Given the description of an element on the screen output the (x, y) to click on. 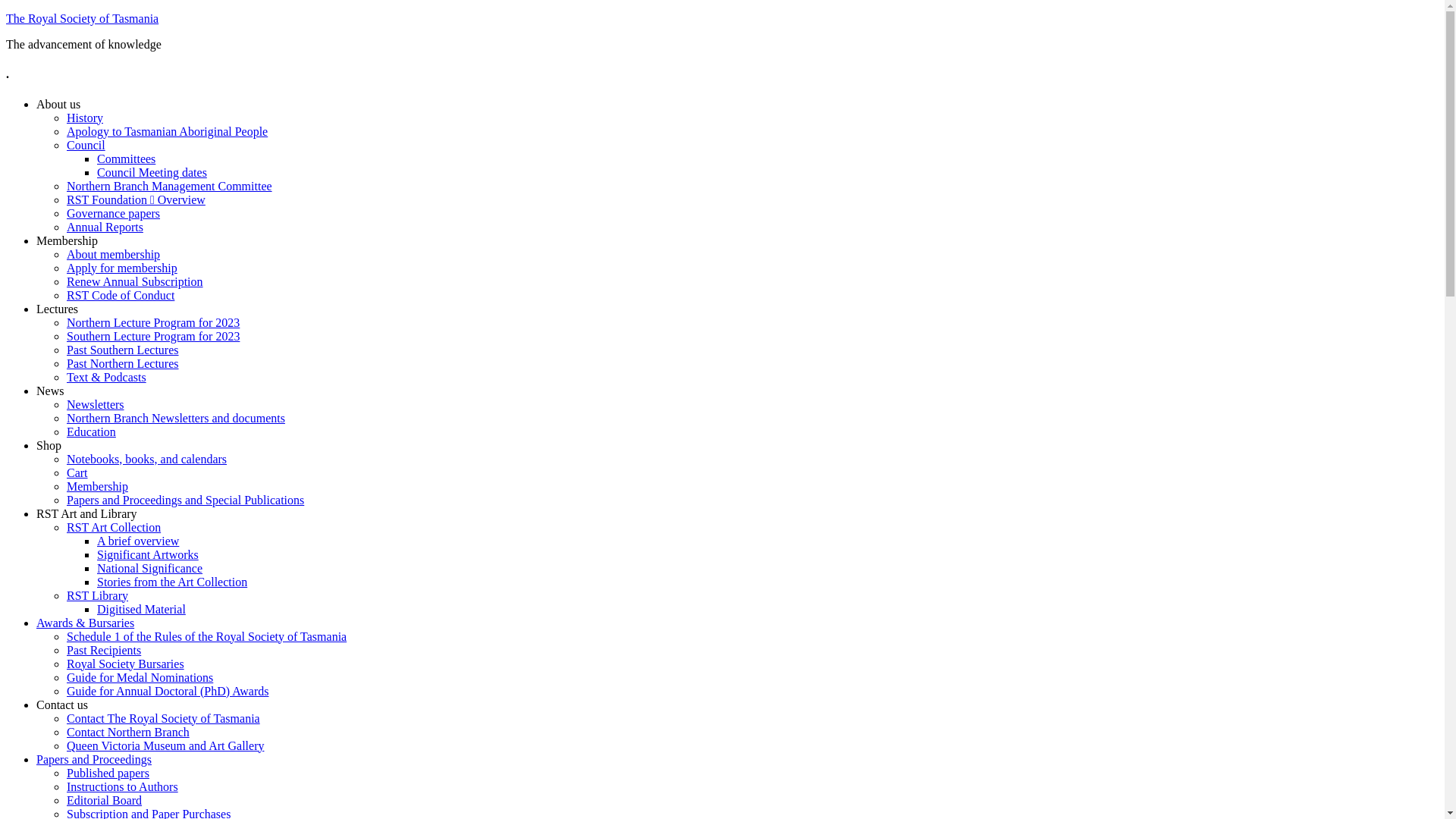
RST Library Element type: text (97, 595)
Council Meeting dates Element type: text (152, 172)
Schedule 1 of the Rules of the Royal Society of Tasmania Element type: text (206, 636)
Stories from the Art Collection Element type: text (172, 581)
Shop Element type: text (48, 445)
Instructions to Authors Element type: text (122, 786)
Council Element type: text (85, 144)
News Element type: text (49, 390)
History Element type: text (84, 117)
Awards & Bursaries Element type: text (85, 622)
Queen Victoria Museum and Art Gallery Element type: text (164, 745)
Guide for Medal Nominations Element type: text (139, 677)
RST Art and Library Element type: text (86, 513)
Royal Society Bursaries Element type: text (125, 663)
Apology to Tasmanian Aboriginal People Element type: text (166, 131)
Membership Element type: text (97, 486)
Education Element type: text (91, 431)
Past Northern Lectures Element type: text (122, 363)
Past Southern Lectures Element type: text (122, 349)
Northern Branch Newsletters and documents Element type: text (175, 417)
Southern Lecture Program for 2023 Element type: text (152, 335)
Renew Annual Subscription Element type: text (134, 281)
Lectures Element type: text (57, 308)
Cart Element type: text (76, 472)
Published papers Element type: text (107, 772)
Northern Branch Management Committee Element type: text (169, 185)
A brief overview Element type: text (137, 540)
RST Art Collection Element type: text (113, 526)
Apply for membership Element type: text (121, 267)
Annual Reports Element type: text (104, 226)
Guide for Annual Doctoral (PhD) Awards Element type: text (167, 690)
Newsletters Element type: text (95, 404)
Northern Lecture Program for 2023 Element type: text (152, 322)
Text & Podcasts Element type: text (106, 376)
Papers and Proceedings and Special Publications Element type: text (185, 499)
Committees Element type: text (126, 158)
Contact Northern Branch Element type: text (127, 731)
Past Recipients Element type: text (103, 649)
Editorial Board Element type: text (103, 799)
RST Code of Conduct Element type: text (120, 294)
Governance papers Element type: text (113, 213)
Contact us Element type: text (61, 704)
About membership Element type: text (113, 253)
Notebooks, books, and calendars Element type: text (146, 458)
Membership Element type: text (66, 240)
Papers and Proceedings Element type: text (93, 759)
National Significance Element type: text (149, 567)
Significant Artworks Element type: text (147, 554)
Digitised Material Element type: text (141, 608)
About us Element type: text (58, 103)
Contact The Royal Society of Tasmania Element type: text (163, 718)
The Royal Society of Tasmania Element type: text (82, 18)
